Given the description of an element on the screen output the (x, y) to click on. 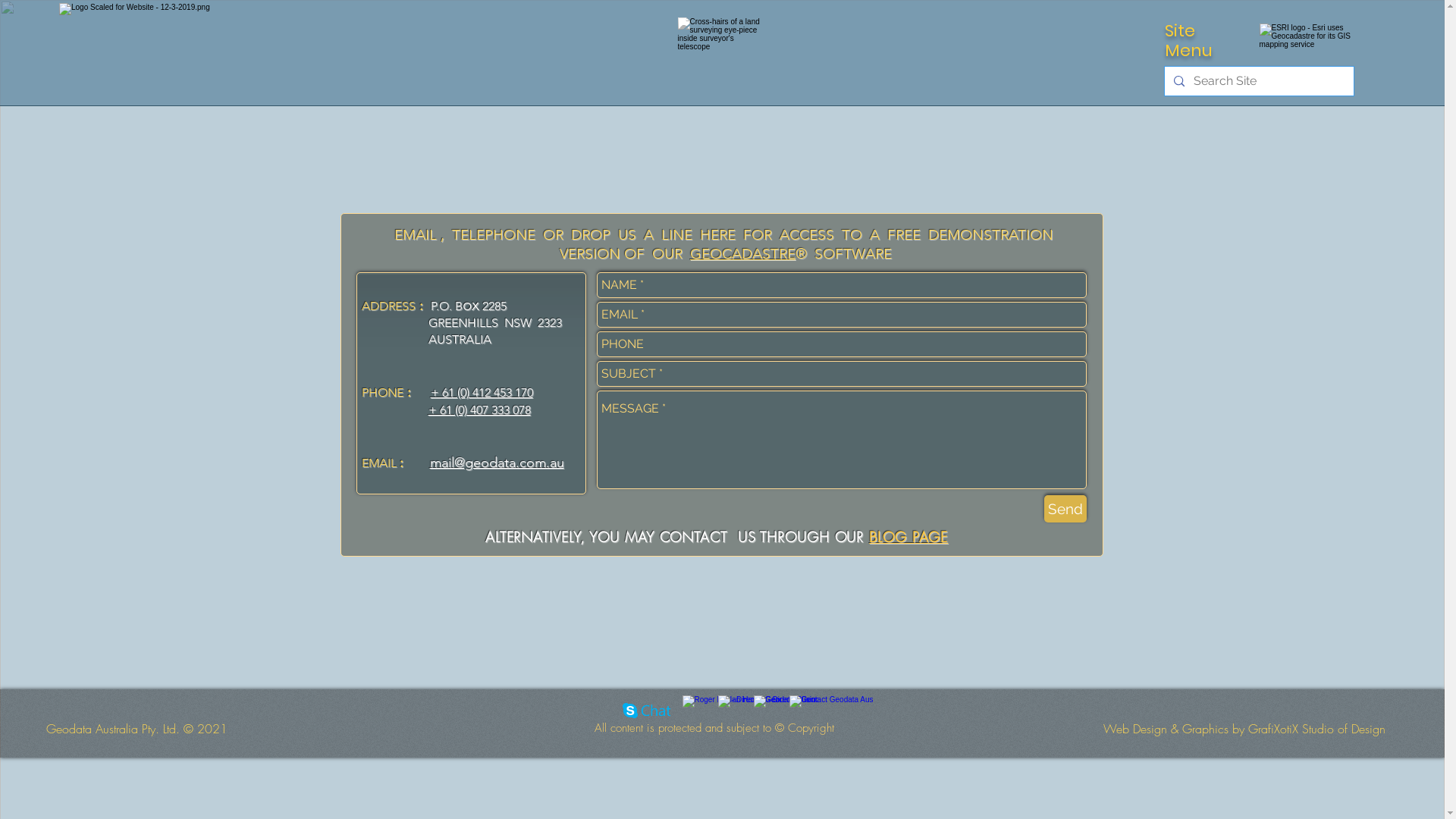
Impressive Site Menu Element type: hover (1330, 37)
BLOG PAGE Element type: text (908, 538)
+ 61 (0) 412 453 170 Element type: text (481, 392)
   mail@geodata.com.au Element type: text (488, 461)
+ 61 (0) 407 333 078 Element type: text (478, 409)
Send Element type: text (1064, 508)
GEOCADASTRE Element type: text (742, 253)
Chat via Skype Element type: hover (646, 711)
